Given the description of an element on the screen output the (x, y) to click on. 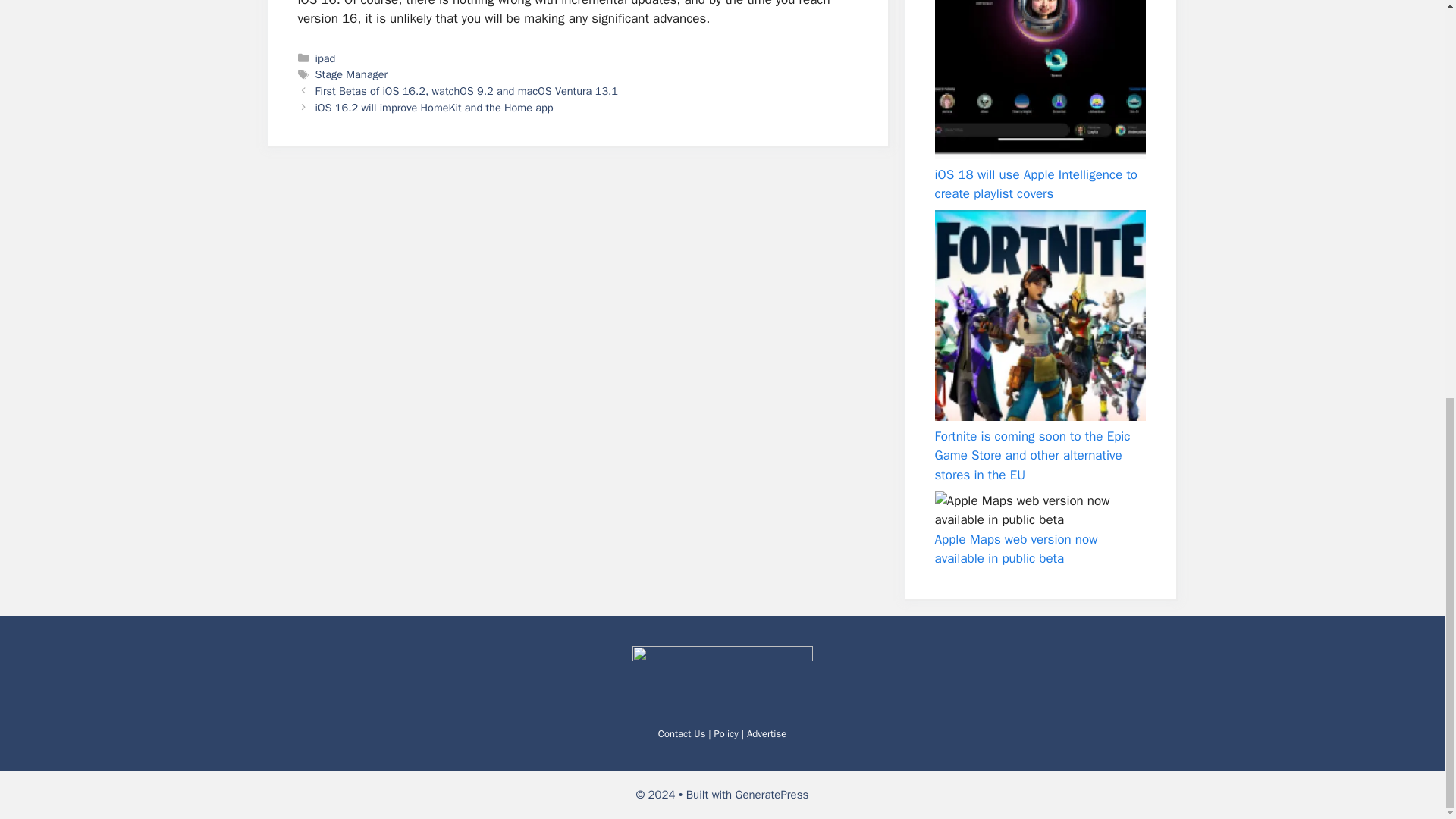
Scroll back to top (1406, 766)
Policy (726, 732)
ipad (325, 58)
Contact Us (682, 732)
Stage Manager (351, 74)
iOS 18 will use Apple Intelligence to create playlist covers (1039, 79)
Apple Maps web version now available in public beta (1015, 548)
GeneratePress (772, 794)
First Betas of iOS 16.2, watchOS 9.2 and macOS Ventura 13.1 (466, 90)
iOS 18 will use Apple Intelligence to create playlist covers (1035, 184)
iOS 16.2 will improve HomeKit and the Home app (434, 107)
Apple Maps web version now available in public beta (1039, 510)
Advertise (766, 732)
